Given the description of an element on the screen output the (x, y) to click on. 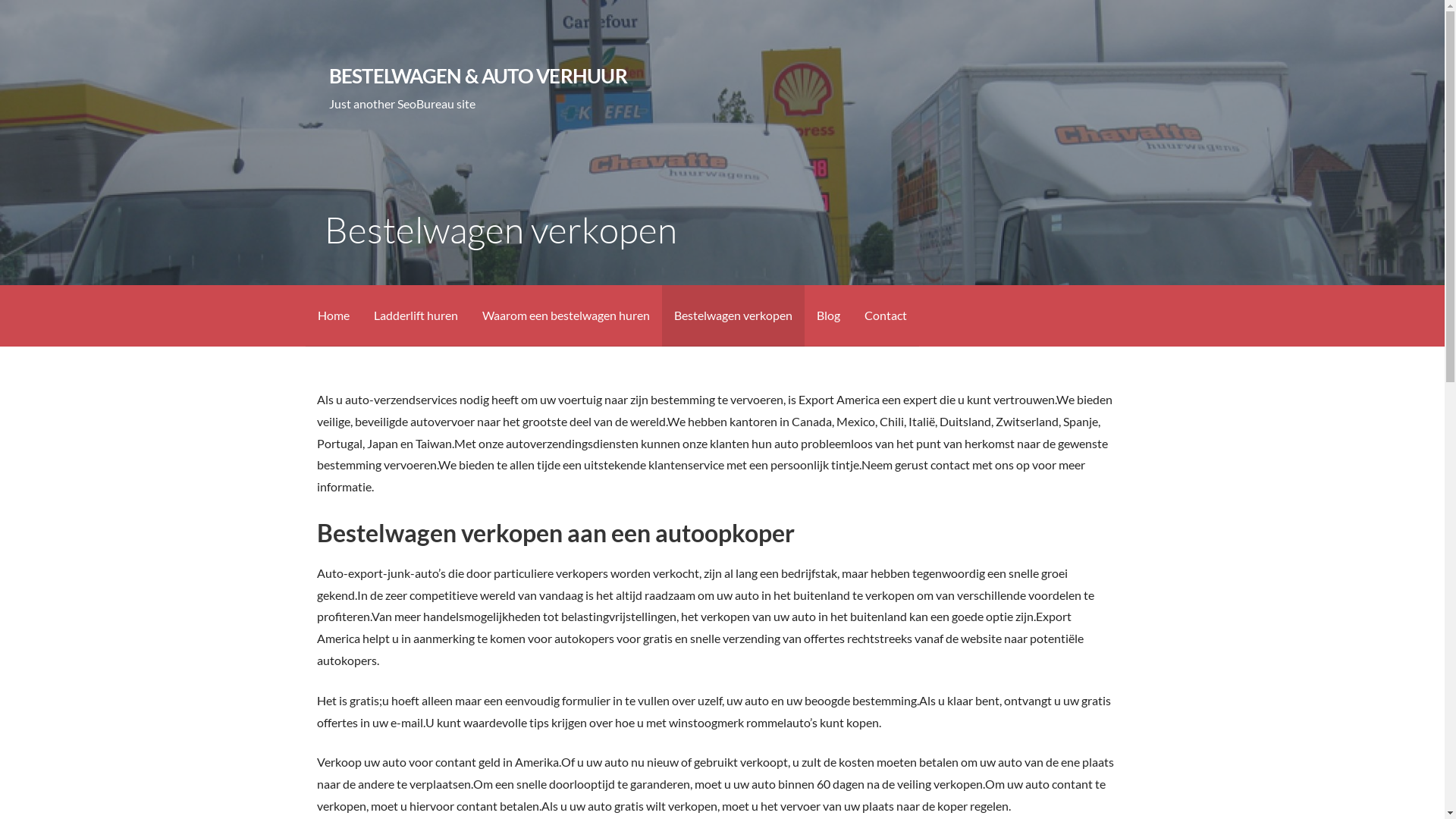
Home Element type: text (332, 315)
Contact Element type: text (885, 315)
Bestelwagen verkopen Element type: text (732, 315)
Blog Element type: text (827, 315)
Waarom een bestelwagen huren Element type: text (566, 315)
BESTELWAGEN & AUTO VERHUUR Element type: text (478, 75)
Ladderlift huren Element type: text (414, 315)
